Given the description of an element on the screen output the (x, y) to click on. 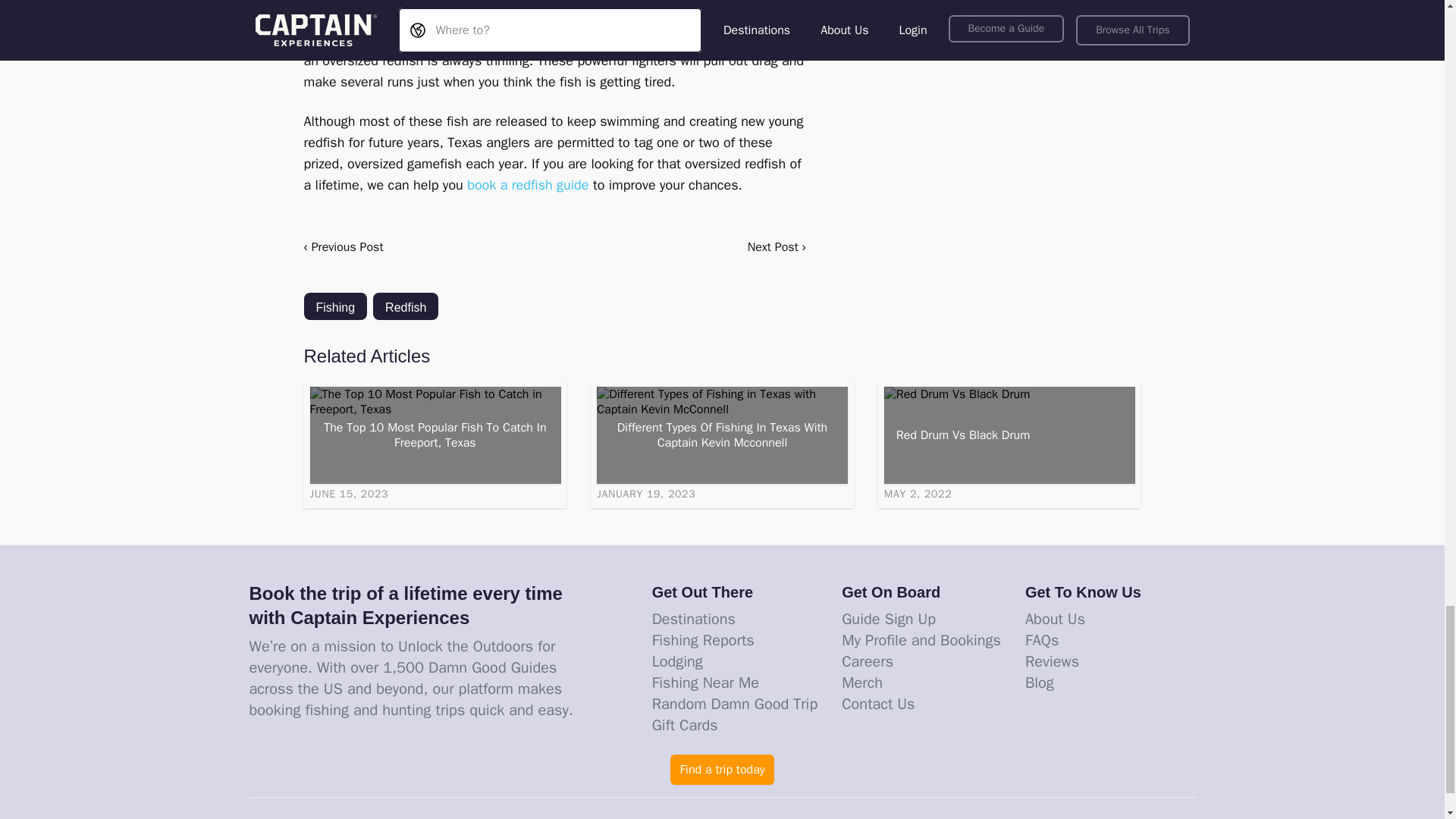
Destinations (693, 618)
Red Drum Vs Black Drum (1009, 435)
Redfish (405, 306)
The Top 10 Most Popular Fish To Catch In Freeport, Texas (434, 435)
Lodging (677, 660)
Fishing Reports (703, 640)
book a redfish guide (527, 184)
The Top 10 Most Popular Fish to Catch in Freeport, Texas (434, 435)
